Given the description of an element on the screen output the (x, y) to click on. 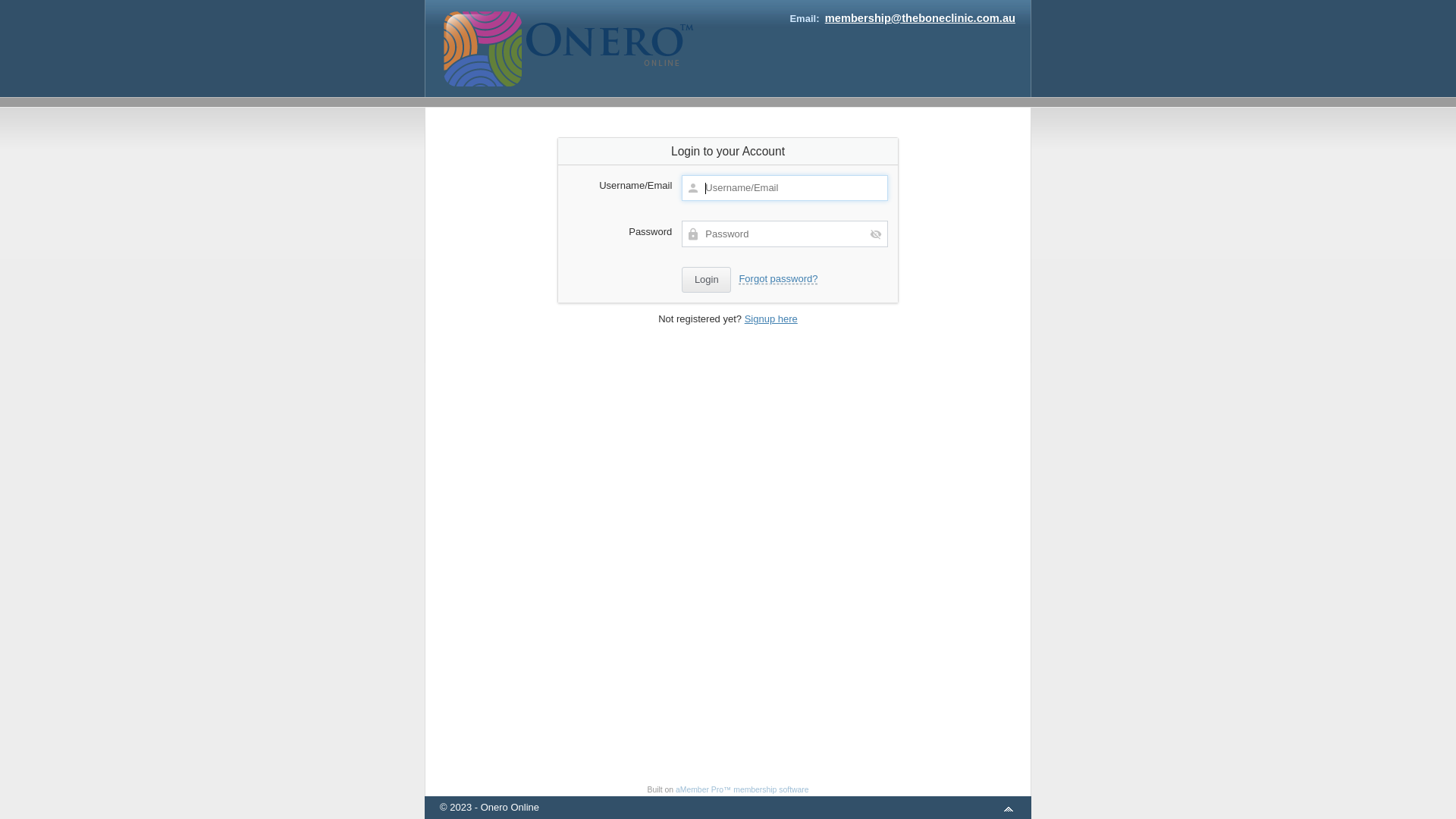
membership@theboneclinic.com.au Element type: text (920, 18)
Forgot password? Element type: text (777, 278)
Toggle Password Visibility Element type: hover (875, 234)
Signup here Element type: text (770, 318)
Login Element type: text (706, 279)
